Given the description of an element on the screen output the (x, y) to click on. 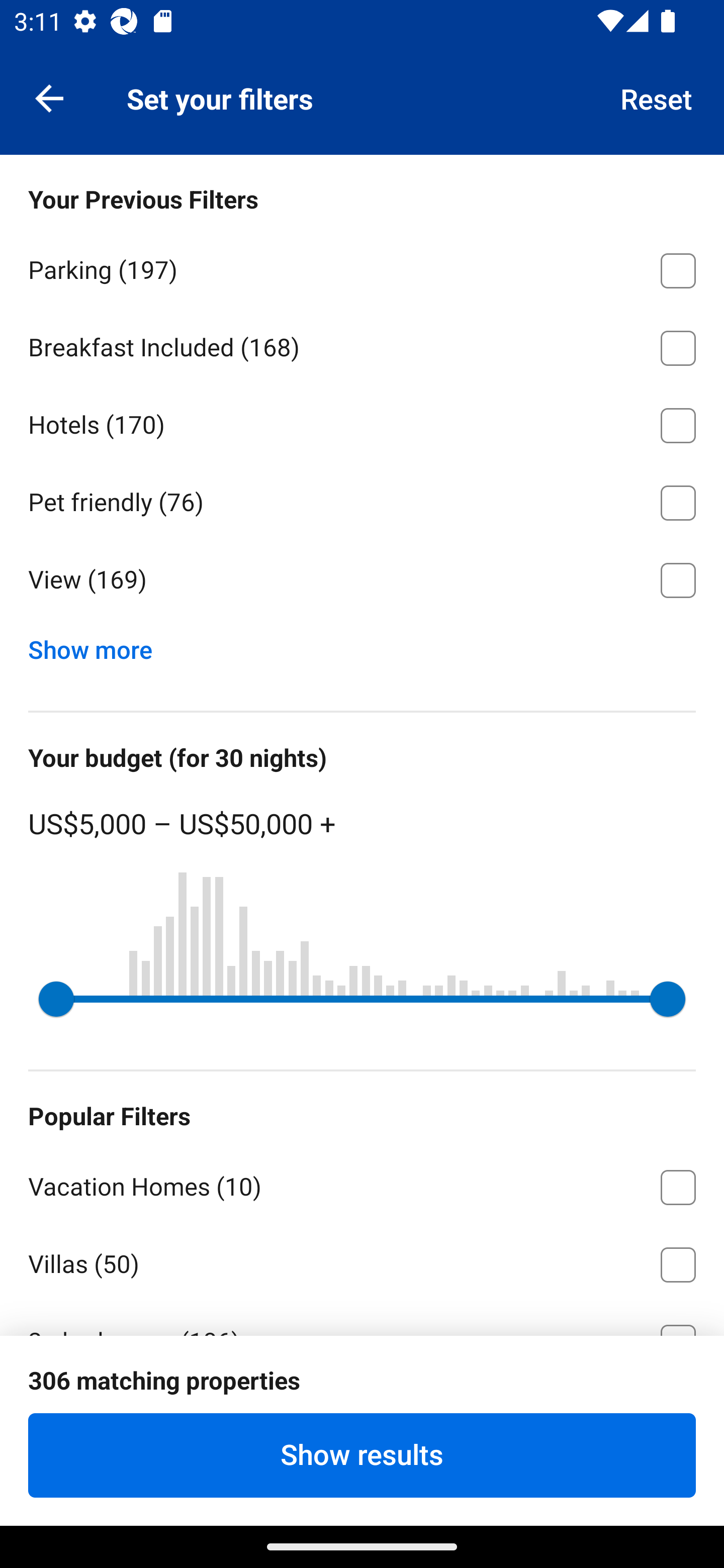
Navigate up (49, 97)
Reset (656, 97)
Parking ⁦(197) (361, 266)
Breakfast Included ⁦(168) (361, 344)
Hotels ⁦(170) (361, 422)
Pet friendly ⁦(76) (361, 498)
View ⁦(169) (361, 579)
Show more (97, 645)
Vacation Homes ⁦(10) (361, 1183)
Villas ⁦(50) (361, 1261)
Show results (361, 1454)
